Given the description of an element on the screen output the (x, y) to click on. 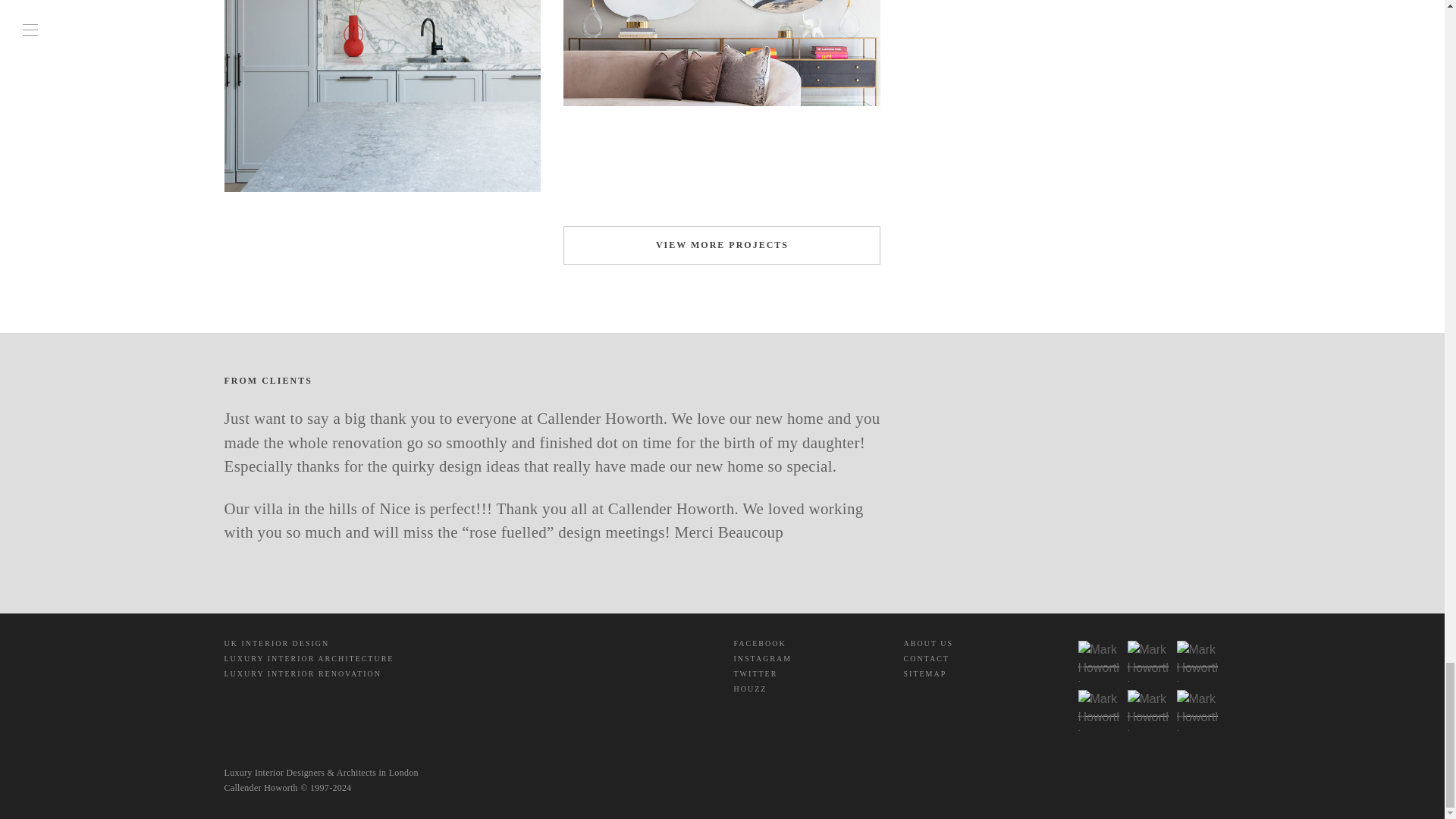
INSTAGRAM (762, 658)
SITEMAP (925, 673)
LUXURY INTERIOR RENOVATION (302, 673)
HOUZZ (750, 688)
CONTACT (926, 658)
UK INTERIOR DESIGN (277, 643)
ABOUT US (928, 643)
FACEBOOK (759, 643)
TWITTER (755, 673)
VIEW MORE PROJECTS (721, 245)
